Given the description of an element on the screen output the (x, y) to click on. 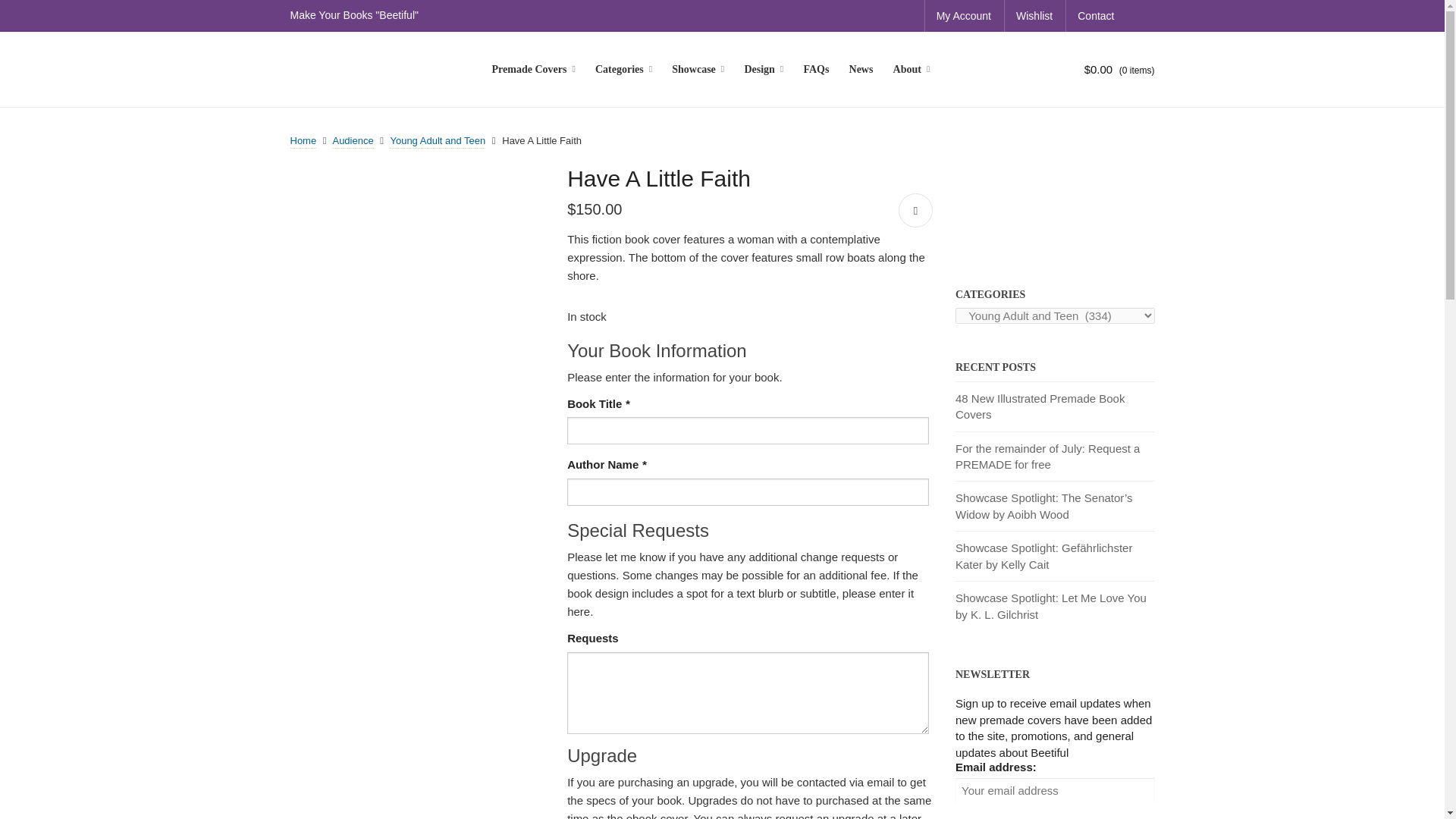
Contact (1095, 15)
Wishlist (1034, 15)
Sign up (975, 808)
View your shopping cart (1104, 70)
Wishlist (1034, 15)
Contact (1095, 15)
My Account (963, 15)
Premade Covers (533, 69)
My Account (963, 15)
